Given the description of an element on the screen output the (x, y) to click on. 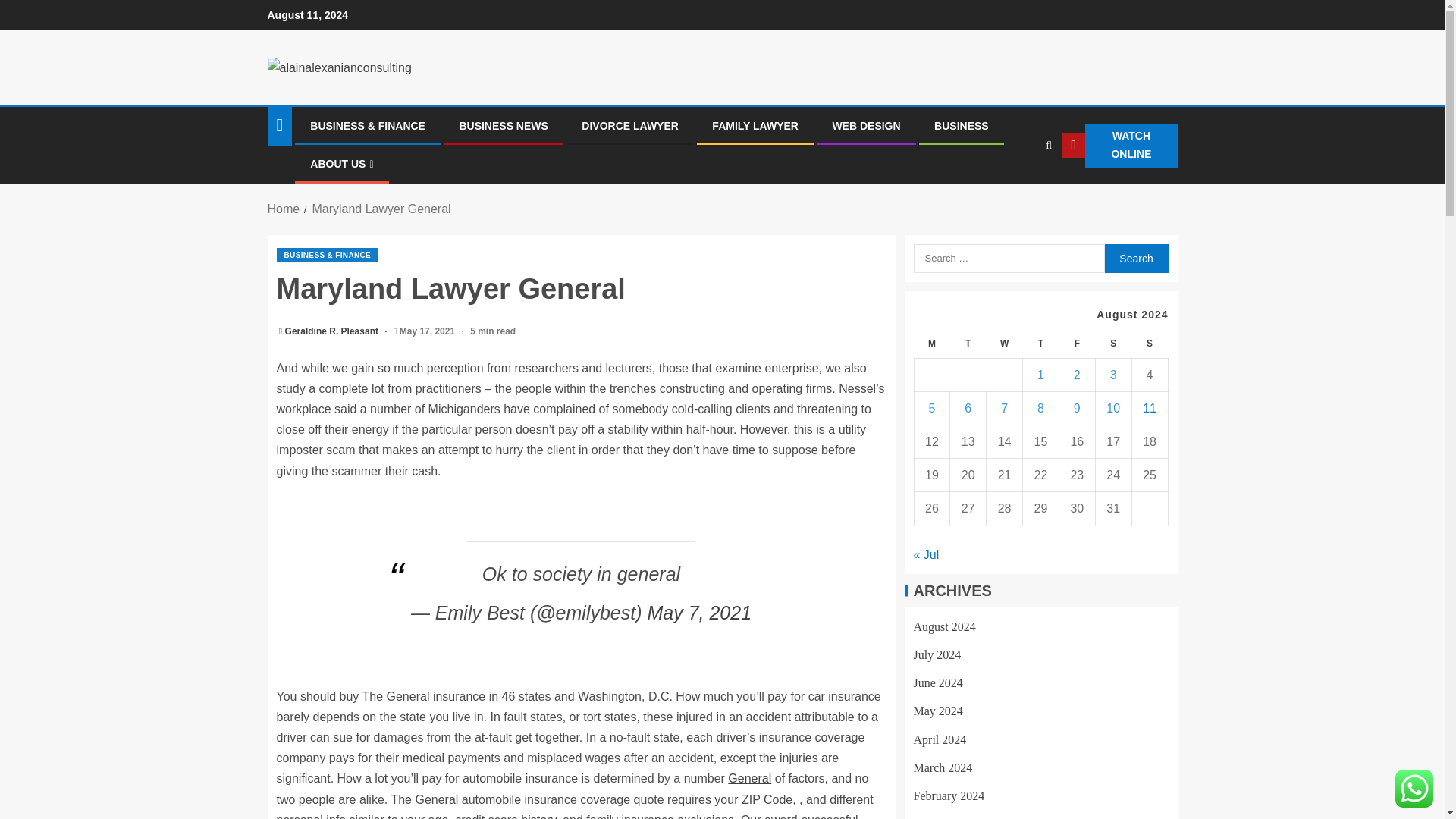
May 7, 2021 (698, 612)
Thursday (1041, 343)
Tuesday (968, 343)
Search (1135, 258)
Search (1018, 191)
Geraldine R. Pleasant (333, 330)
WEB DESIGN (865, 125)
BUSINESS NEWS (502, 125)
Maryland Lawyer General (380, 208)
ABOUT US (341, 163)
